Given the description of an element on the screen output the (x, y) to click on. 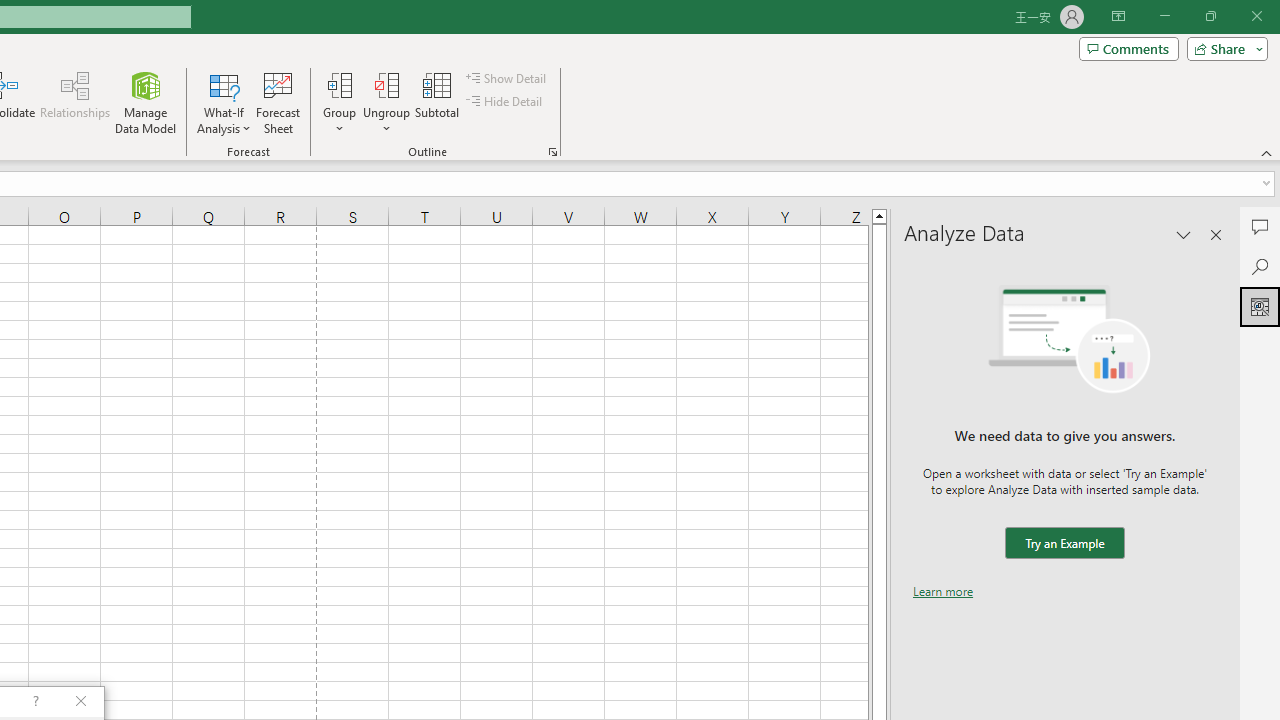
What-If Analysis (223, 102)
Learn more (943, 591)
